Given the description of an element on the screen output the (x, y) to click on. 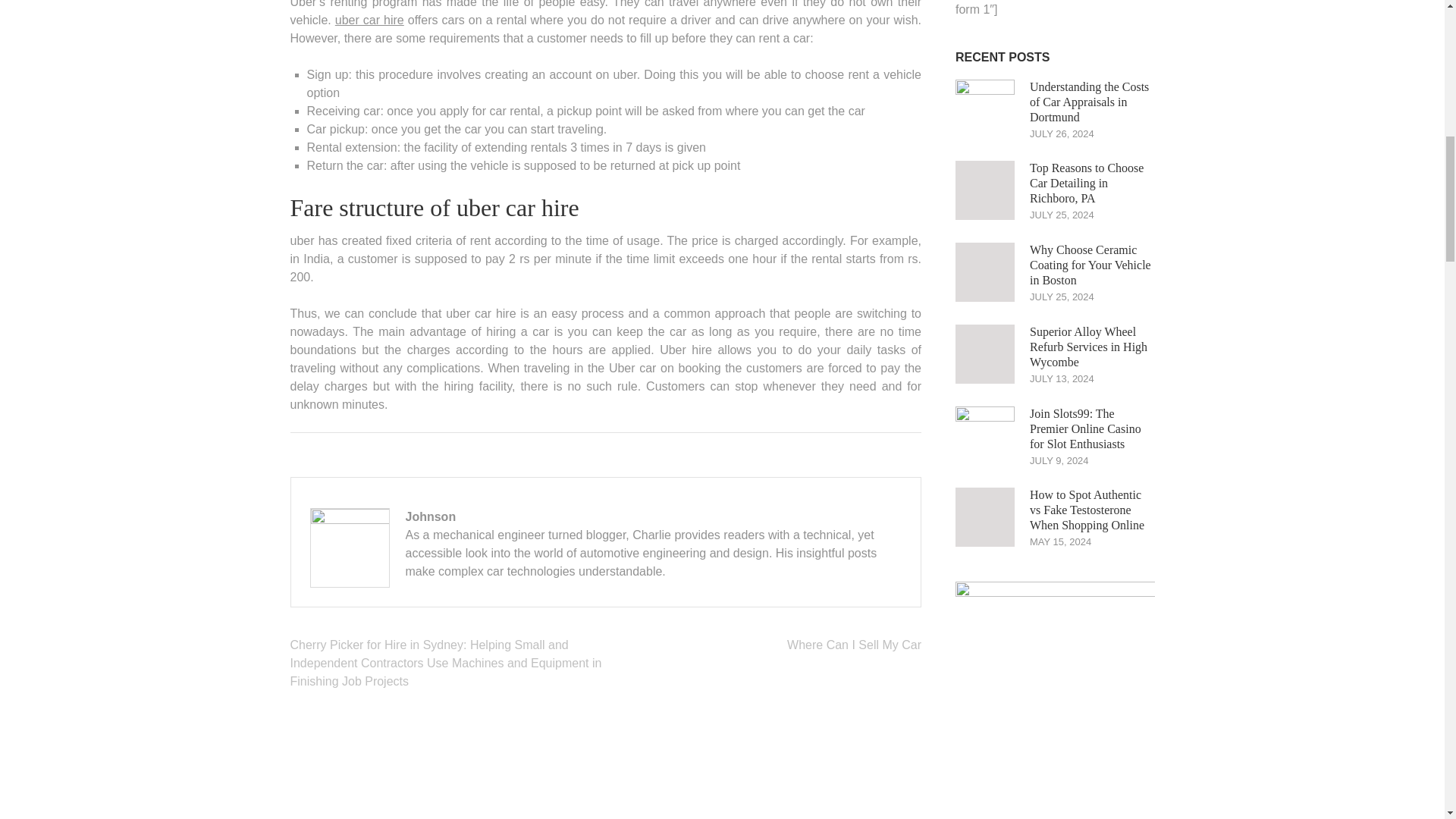
Where Can I Sell My Car (854, 644)
uber car hire (369, 19)
